Given the description of an element on the screen output the (x, y) to click on. 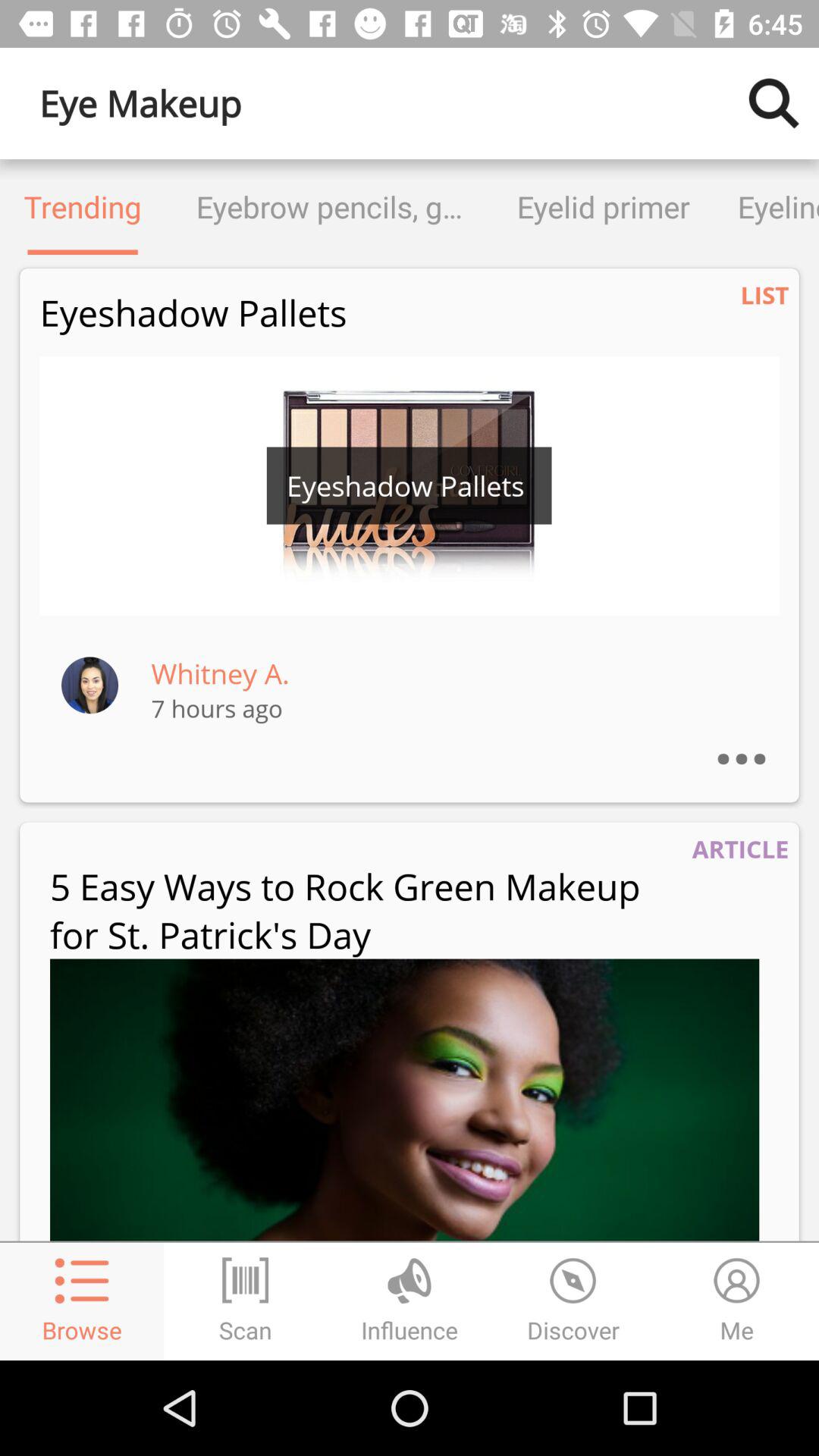
select the icon below ... (740, 848)
